Given the description of an element on the screen output the (x, y) to click on. 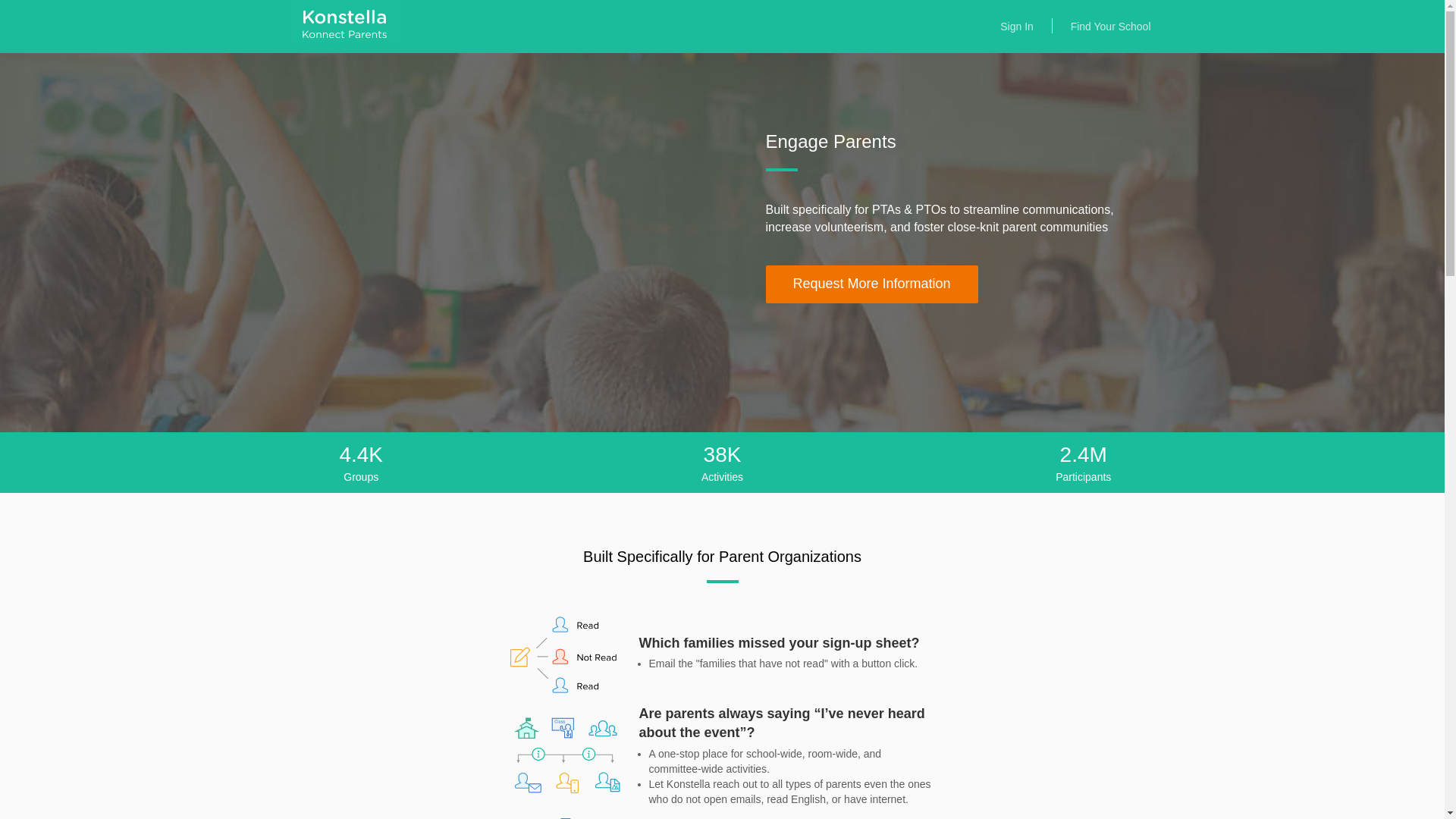
Request More Information (871, 284)
Find Your School (1110, 26)
Sign In (1016, 26)
